Given the description of an element on the screen output the (x, y) to click on. 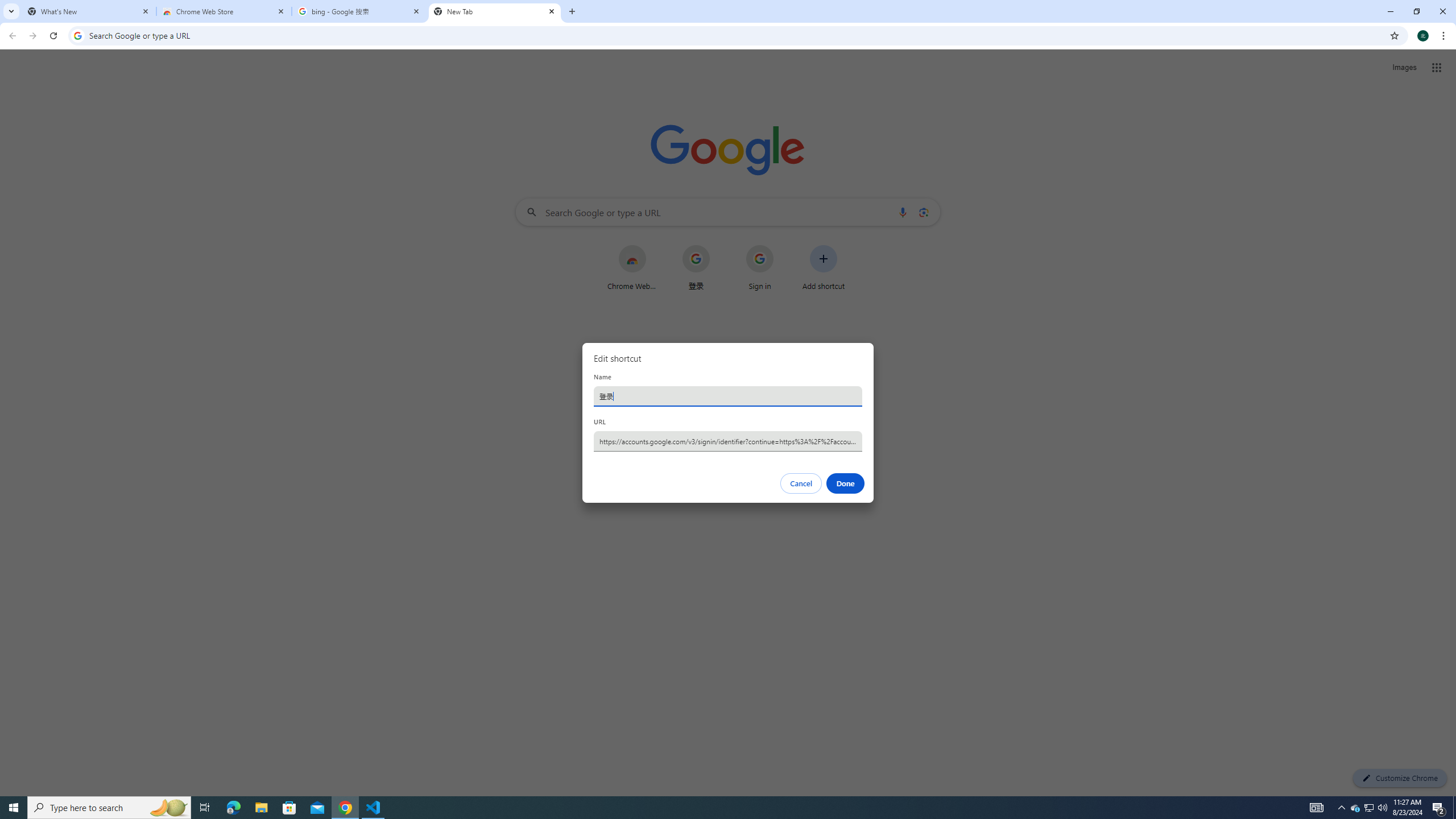
URL (727, 440)
Cancel (801, 483)
New Tab (494, 11)
Done (845, 483)
Chrome Web Store (224, 11)
